Given the description of an element on the screen output the (x, y) to click on. 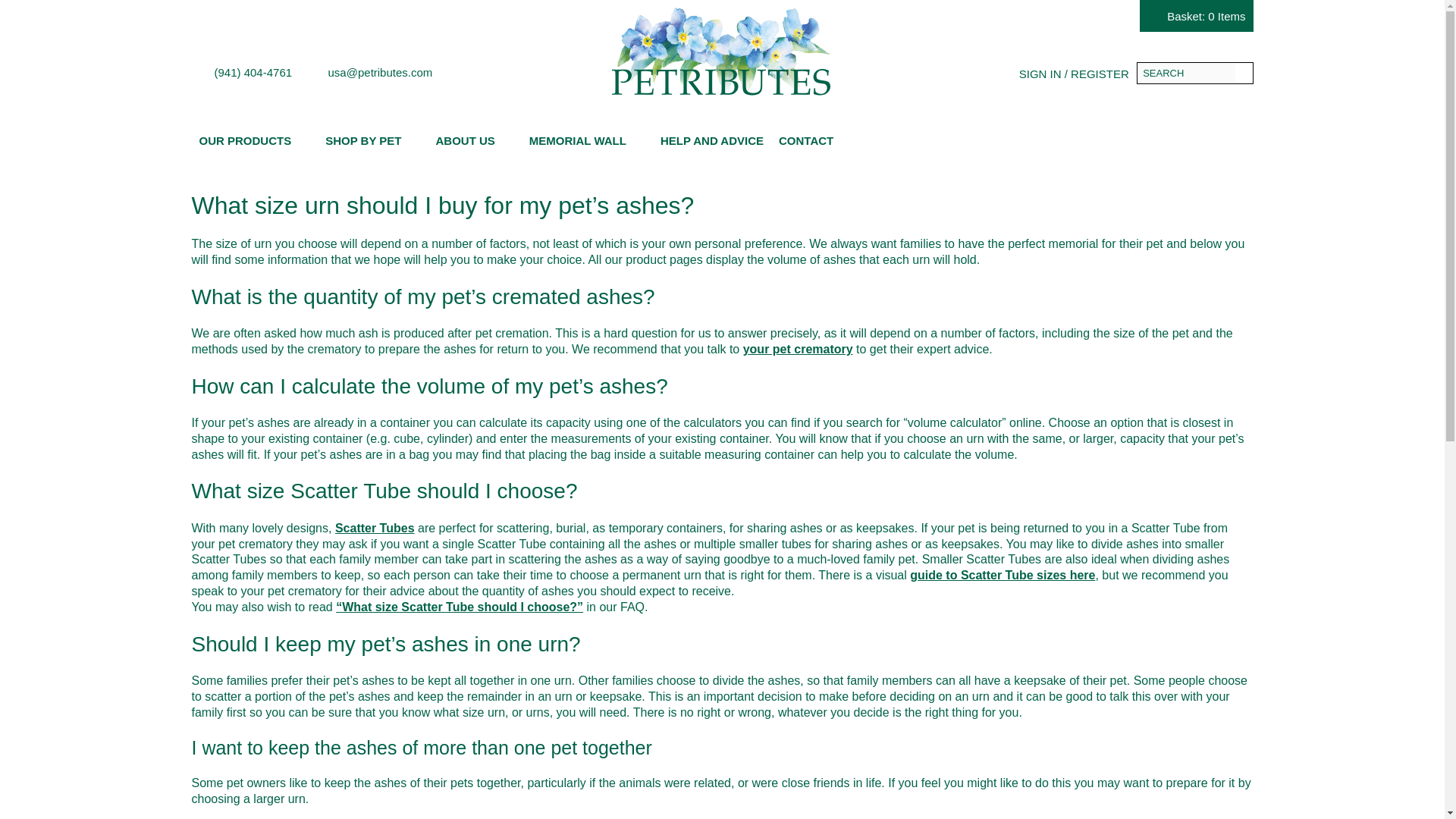
your pet crematory (797, 349)
HELP AND ADVICE (711, 139)
MEMORIAL WALL (586, 139)
Search (1242, 73)
Search (1242, 73)
Basket: 0 Items (1196, 15)
Search (1242, 73)
CONTACT (815, 139)
ABOUT US (474, 139)
Scatter Tubes (374, 527)
